Given the description of an element on the screen output the (x, y) to click on. 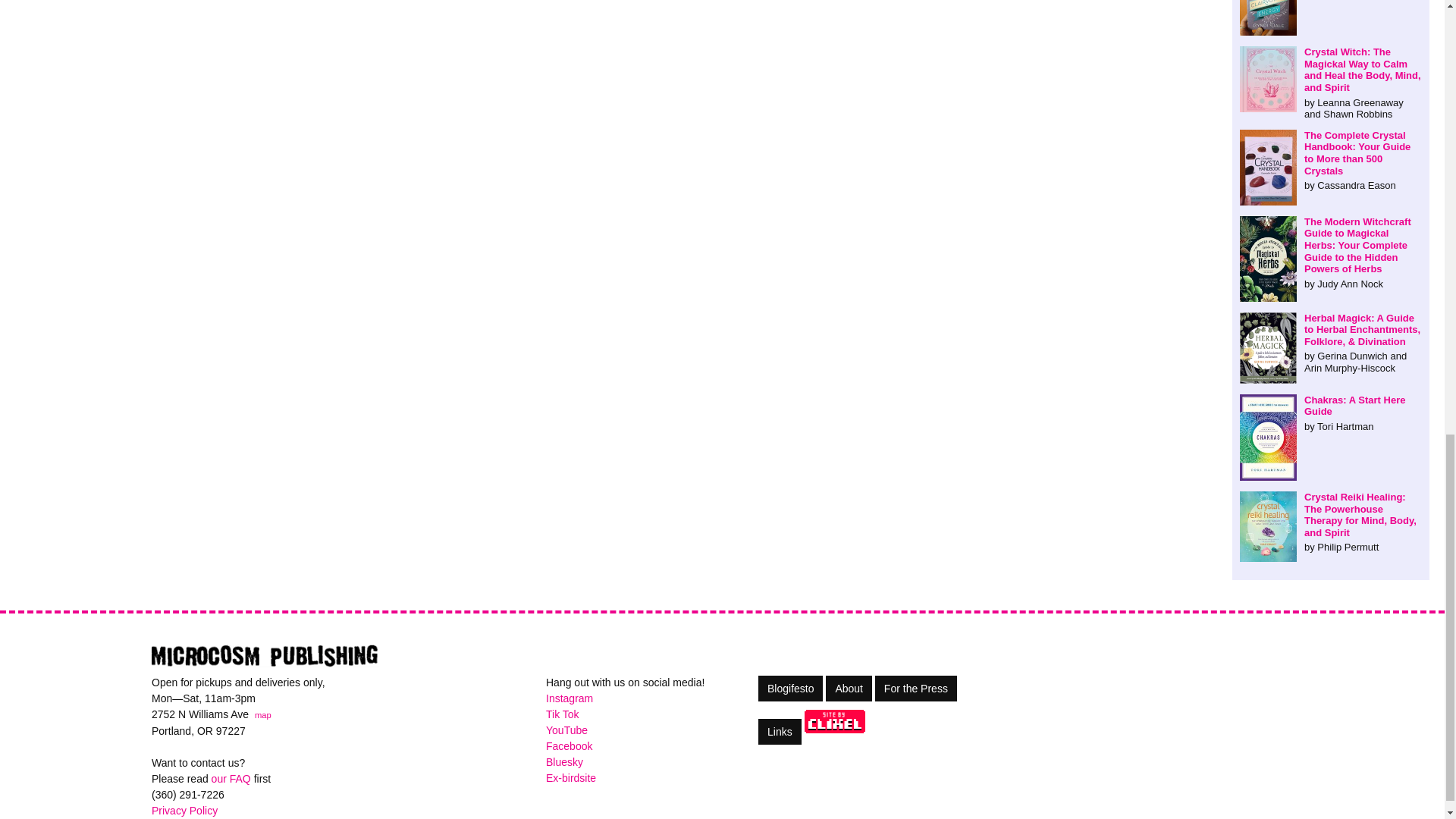
Chakras: A Start Here Guide (1331, 413)
